Given the description of an element on the screen output the (x, y) to click on. 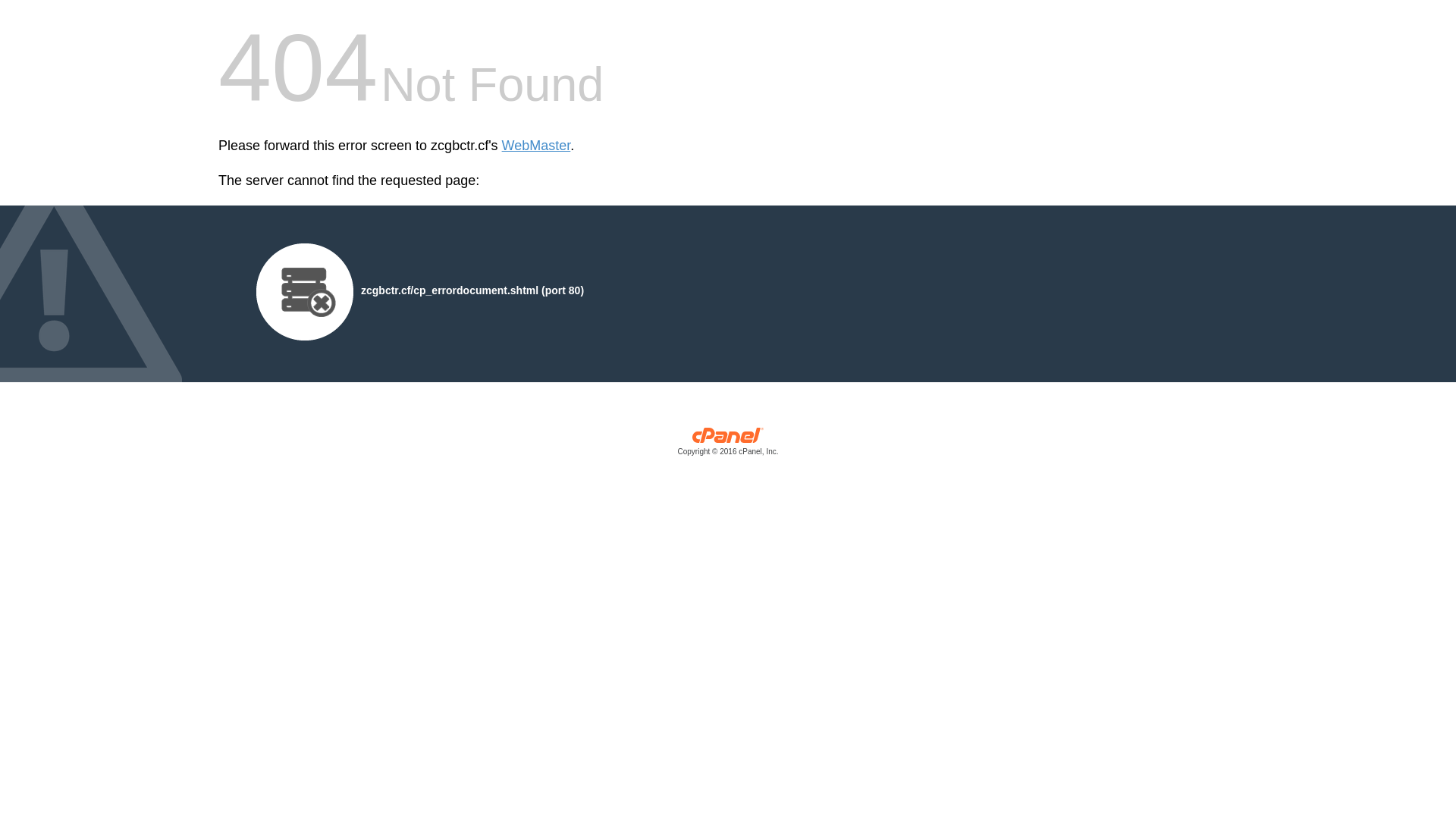
WebMaster Element type: text (536, 145)
